Given the description of an element on the screen output the (x, y) to click on. 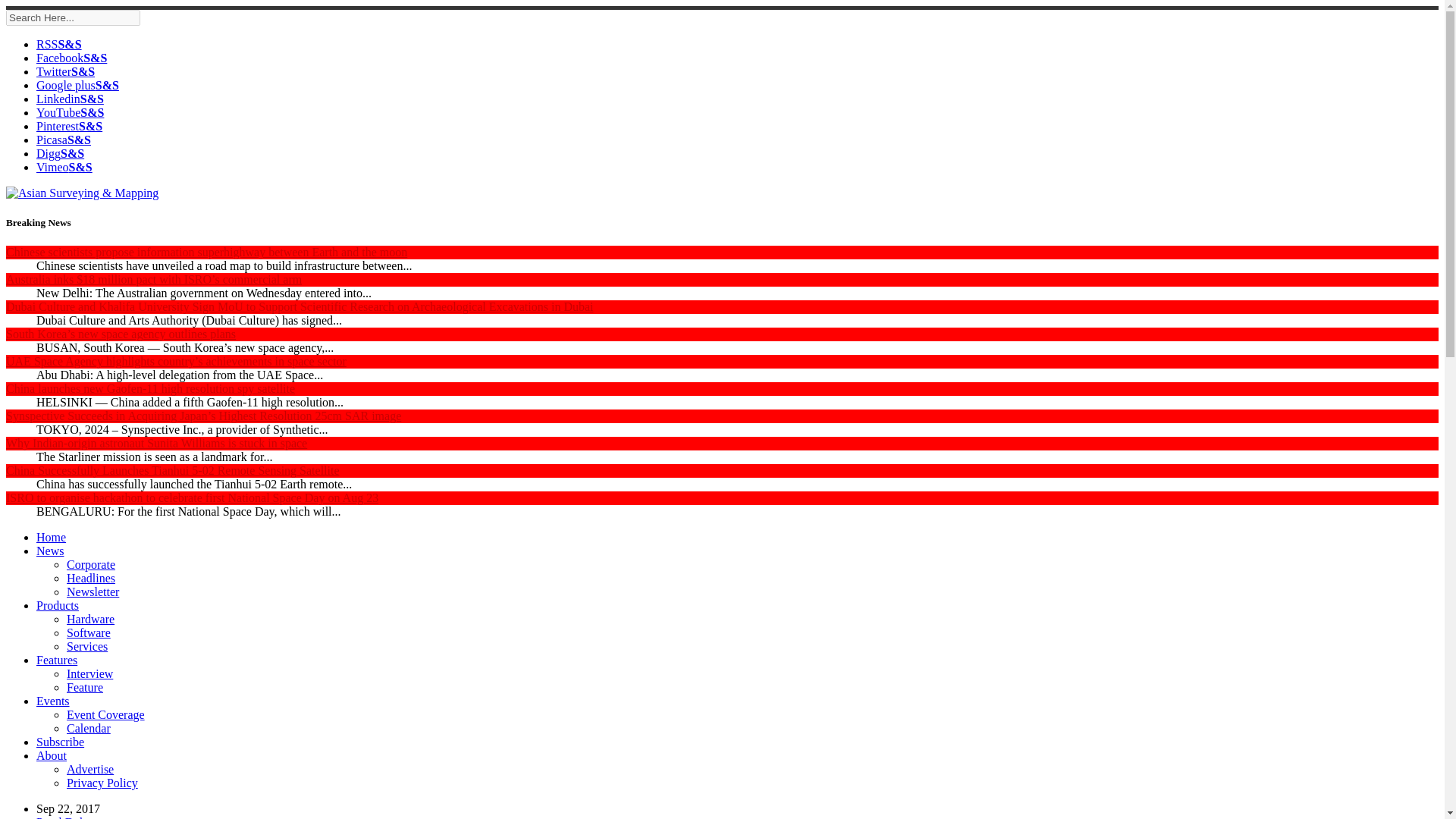
Linkedin (69, 98)
Software (88, 632)
About (51, 755)
Hardware (90, 618)
News (50, 550)
Feature (84, 686)
Subscribe (60, 741)
V1 Media (69, 112)
Advertise (89, 768)
Interview (89, 673)
Events (52, 700)
China launches new Gaofen-11 high resolution spy satellite (150, 388)
Sensors and Systems (63, 139)
